Given the description of an element on the screen output the (x, y) to click on. 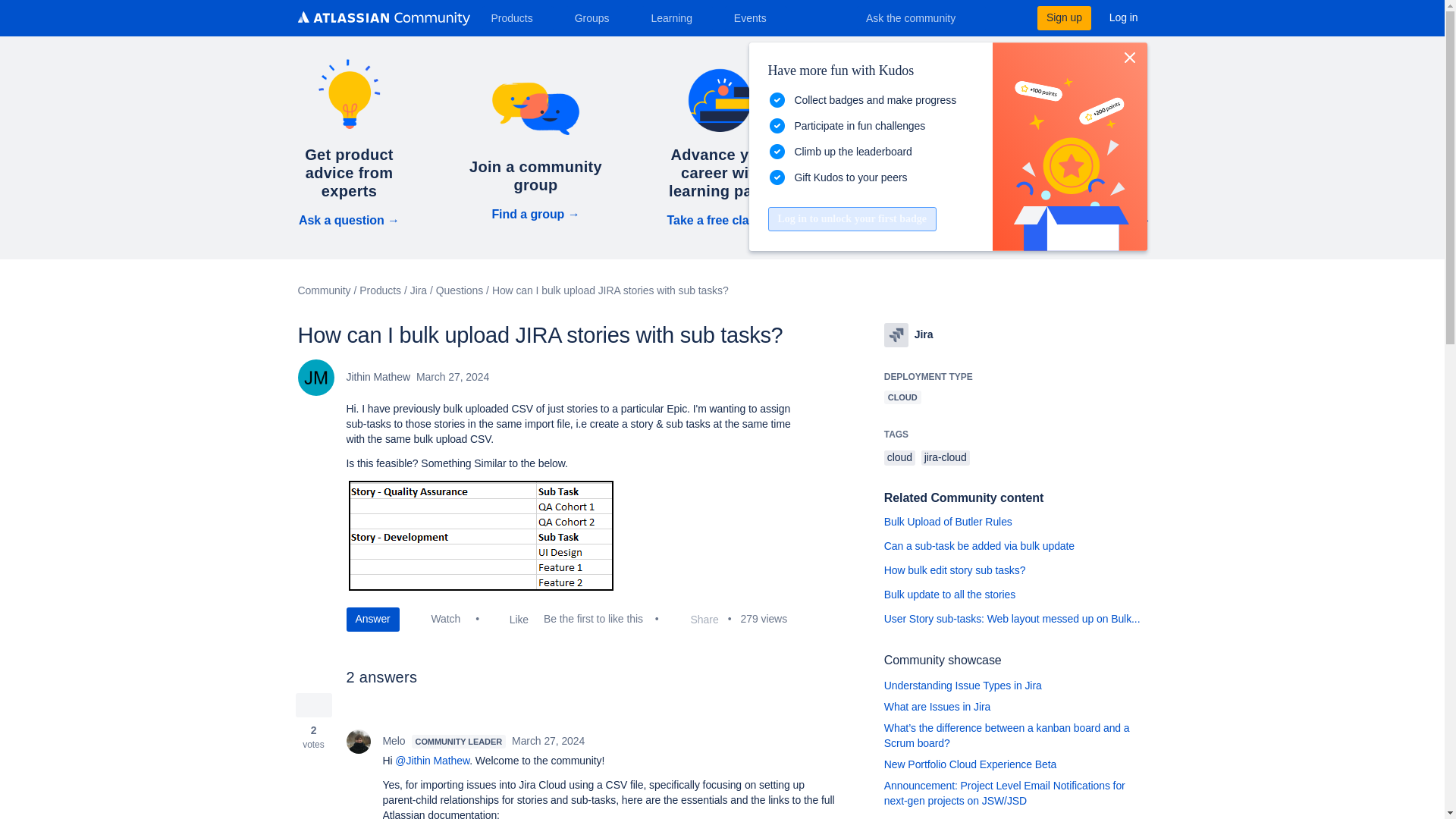
Jithin Mathew (315, 377)
Groups (598, 17)
Jira (895, 334)
Events (756, 17)
Melo (357, 741)
Ask the community  (921, 17)
Products (517, 17)
Log in to unlock your first badge (851, 218)
Sign up (1063, 17)
Atlassian Community logo (382, 19)
